Given the description of an element on the screen output the (x, y) to click on. 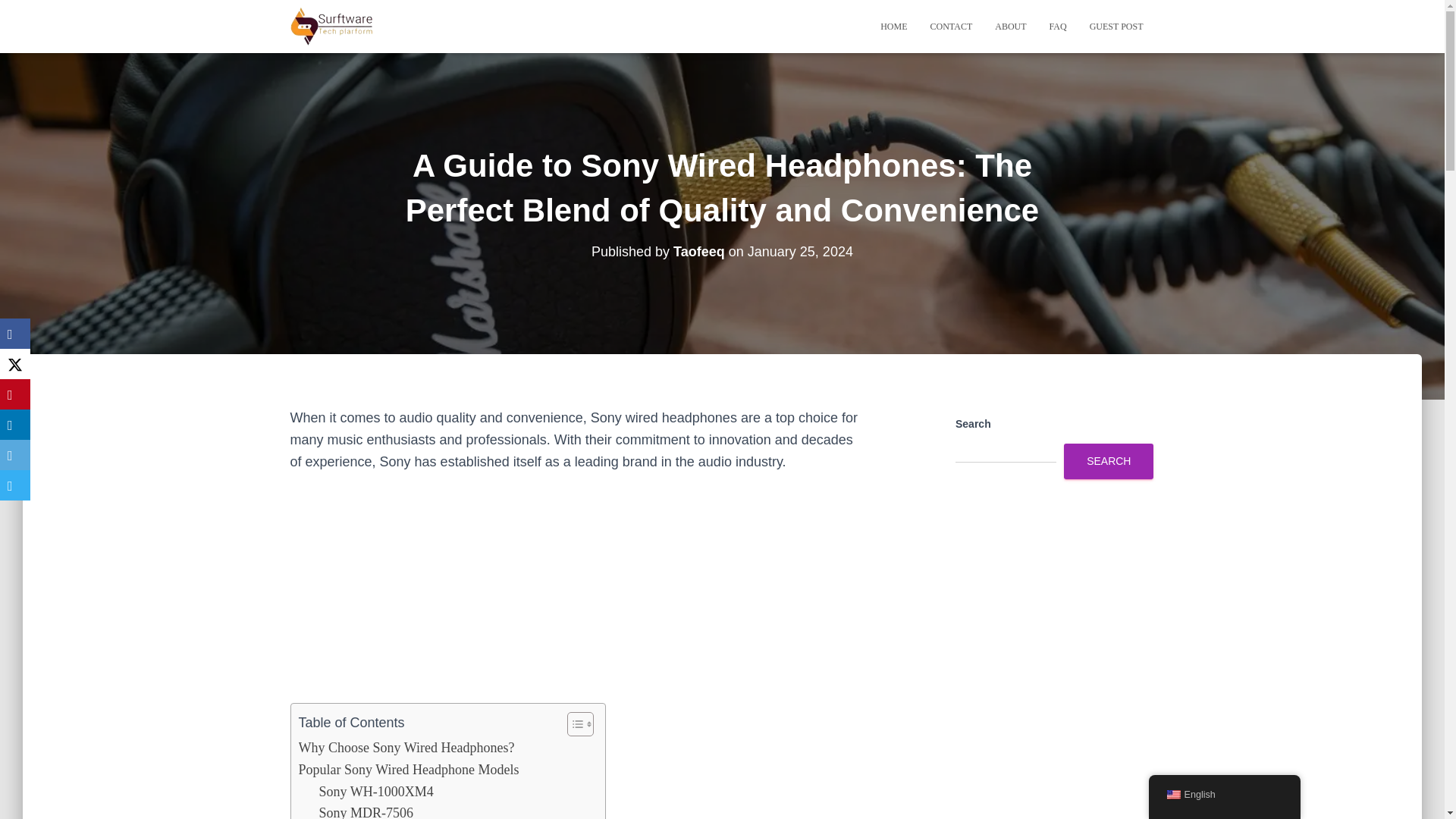
CONTACT (951, 26)
Contact (951, 26)
Sony MDR-7506 (365, 810)
ABOUT (1010, 26)
SEARCH (1108, 461)
Sony MDR-7506 (365, 810)
About (1010, 26)
Popular Sony Wired Headphone Models (408, 770)
Home (893, 26)
Why Choose Sony Wired Headphones? (406, 748)
